Given the description of an element on the screen output the (x, y) to click on. 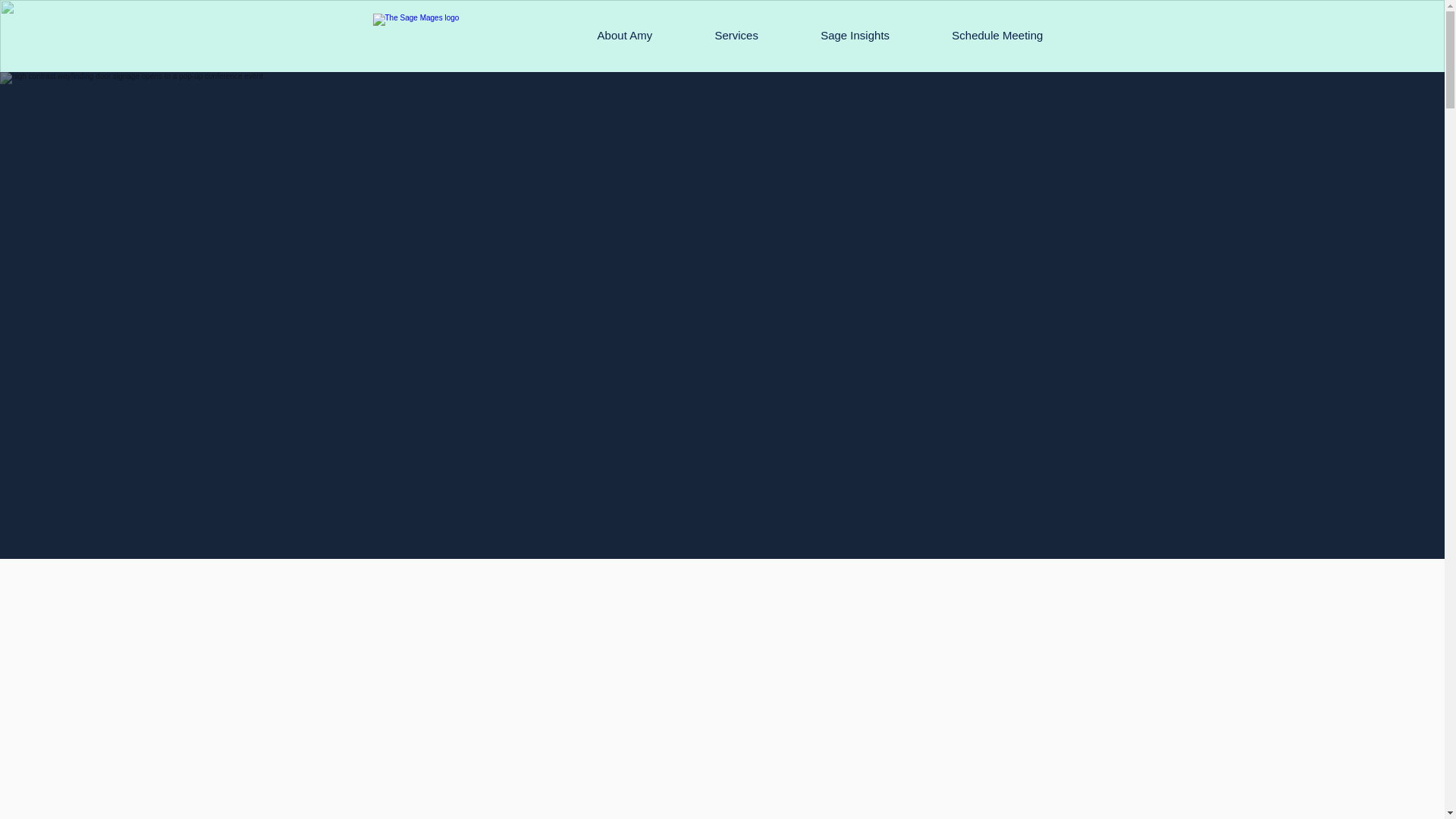
Services (735, 34)
Schedule Meeting (996, 34)
Sage Insights (854, 34)
About Amy (624, 34)
